Given the description of an element on the screen output the (x, y) to click on. 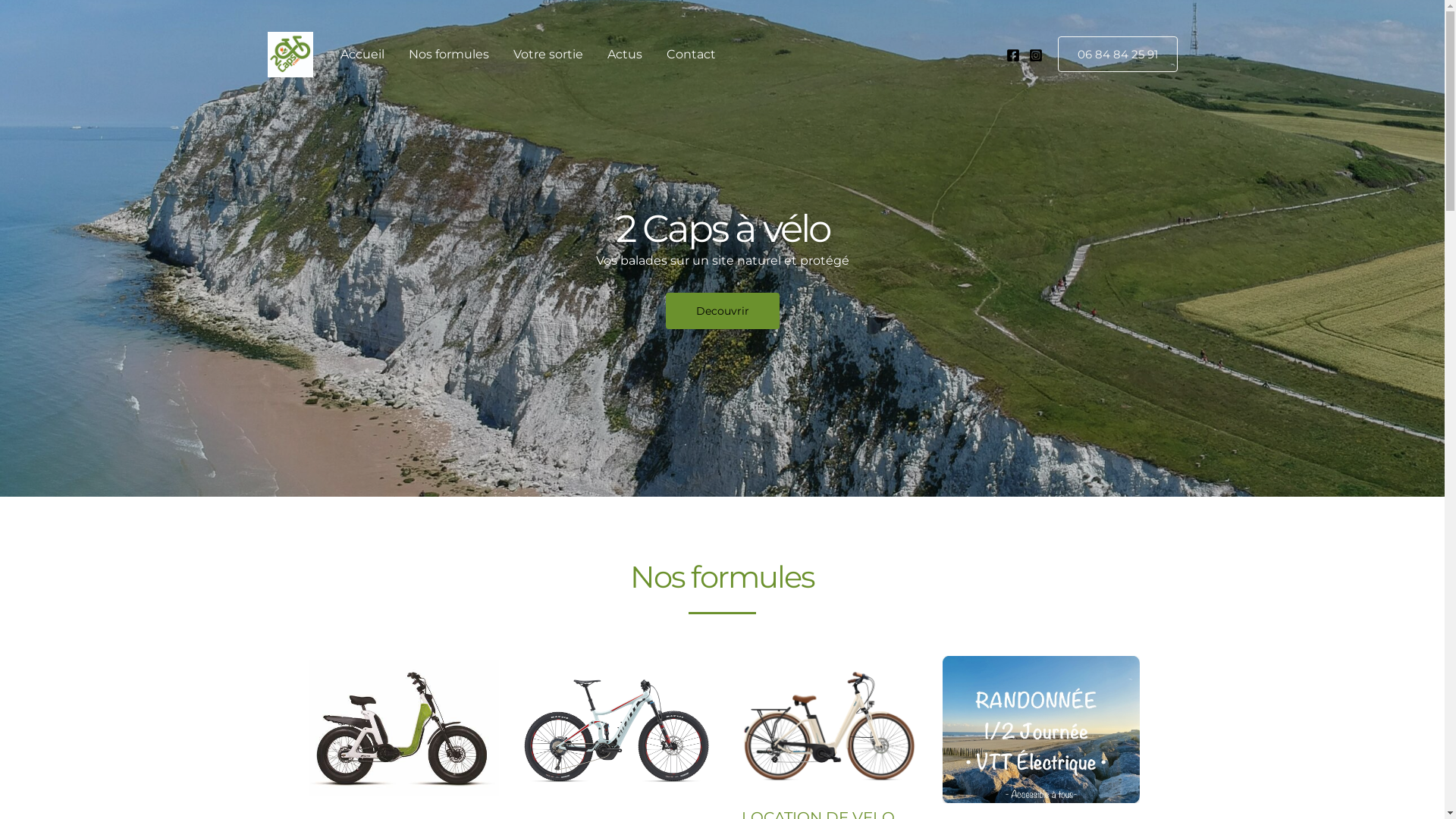
Actus Element type: text (623, 53)
Contact Element type: text (690, 53)
06 84 84 25 91 Element type: text (1116, 54)
Votre sortie Element type: text (547, 53)
Nos formules Element type: text (447, 53)
Decouvrir Element type: text (722, 310)
Accueil Element type: text (361, 53)
